Given the description of an element on the screen output the (x, y) to click on. 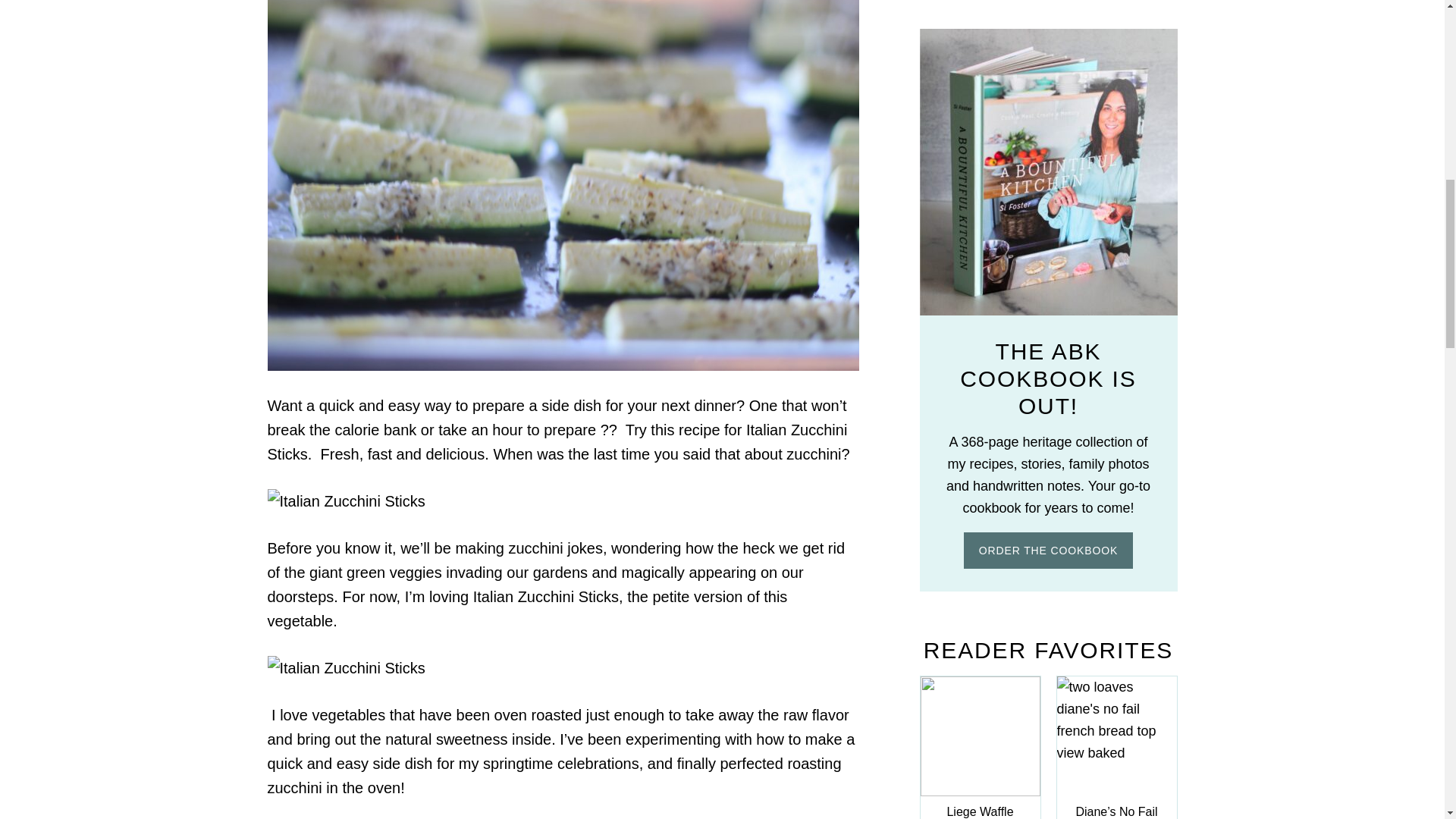
Italian Zucchini Sticks (345, 667)
Italian Zucchini Sticks (345, 500)
